Given the description of an element on the screen output the (x, y) to click on. 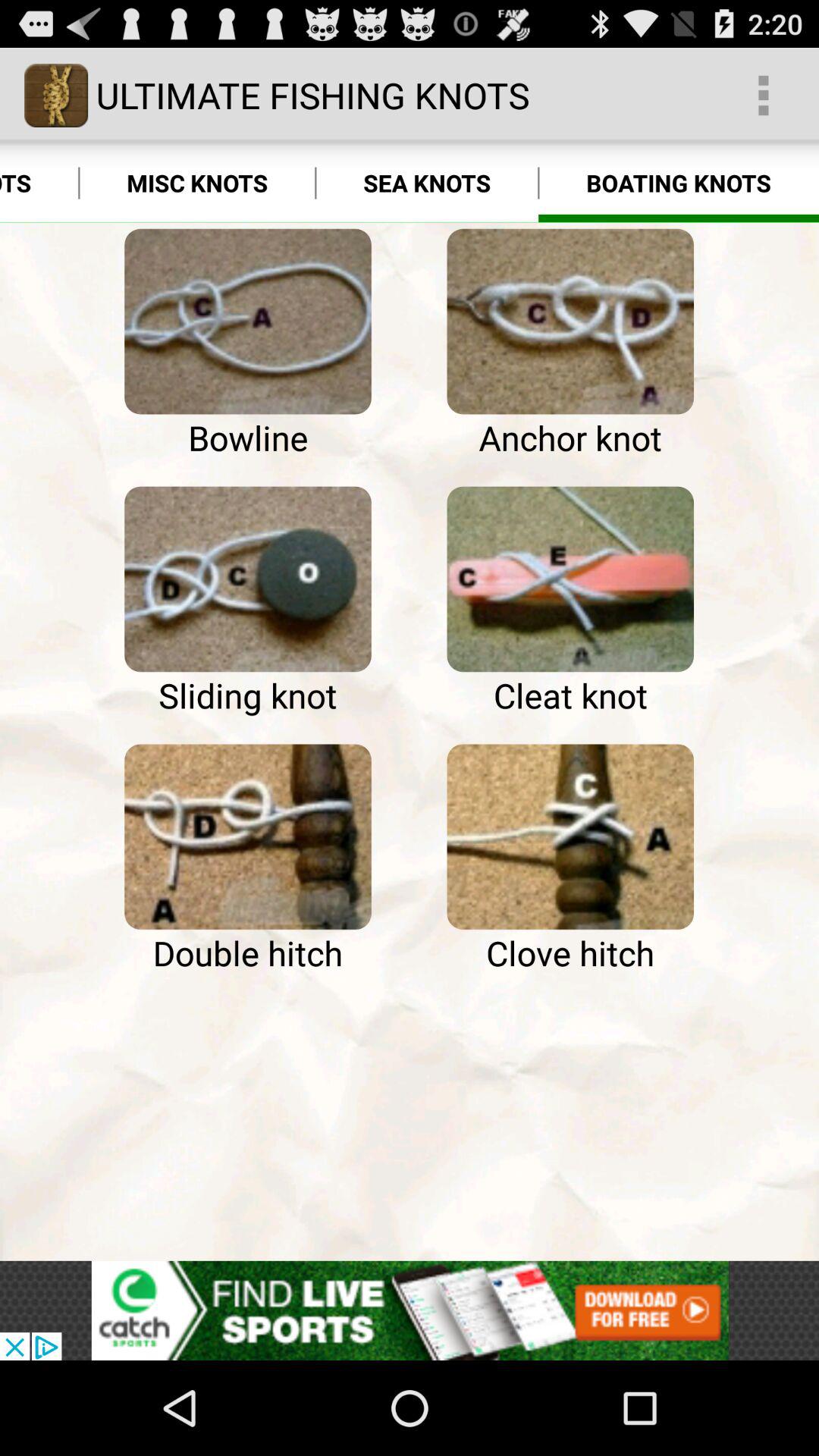
click the picture (570, 321)
